Given the description of an element on the screen output the (x, y) to click on. 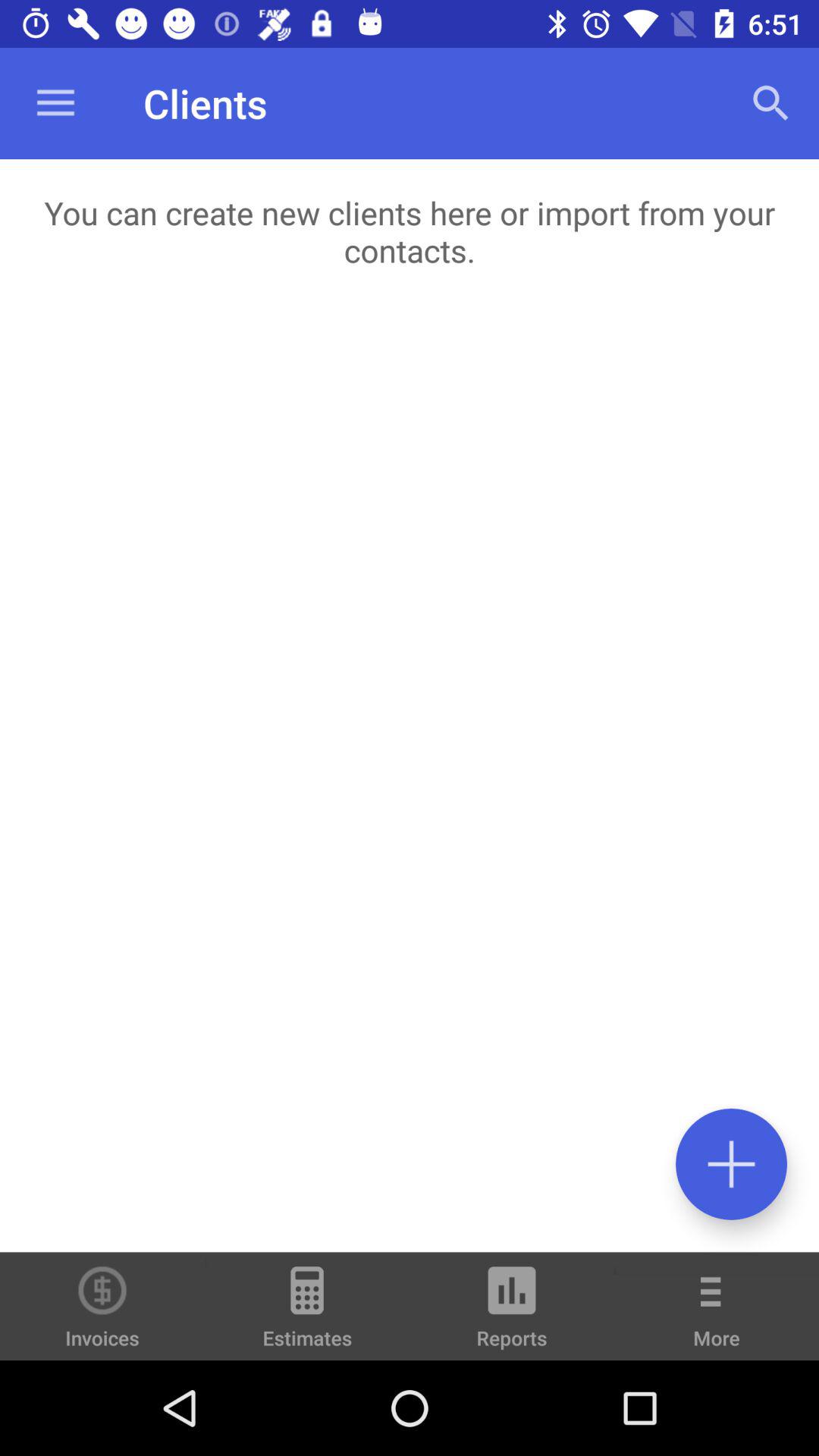
turn on item at the center (409, 777)
